Given the description of an element on the screen output the (x, y) to click on. 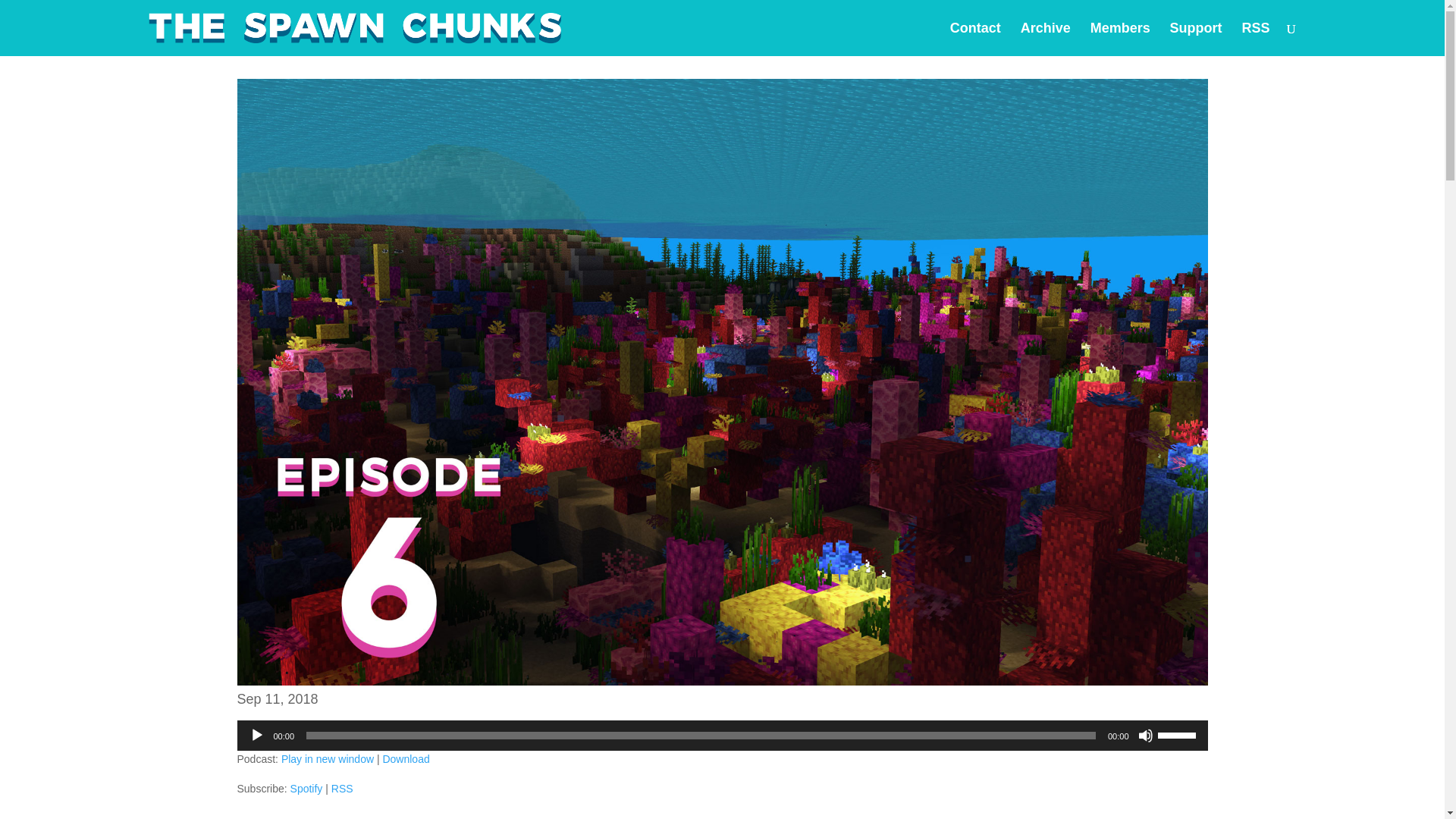
RSS (342, 788)
Play in new window (327, 758)
Subscribe via RSS (342, 788)
Members (1120, 39)
Support (1196, 39)
Play in new window (327, 758)
Play (255, 735)
Spotify (306, 788)
Subscribe on Spotify (306, 788)
Mute (1145, 735)
Contact (975, 39)
Download (405, 758)
Archive (1045, 39)
Download (405, 758)
